Given the description of an element on the screen output the (x, y) to click on. 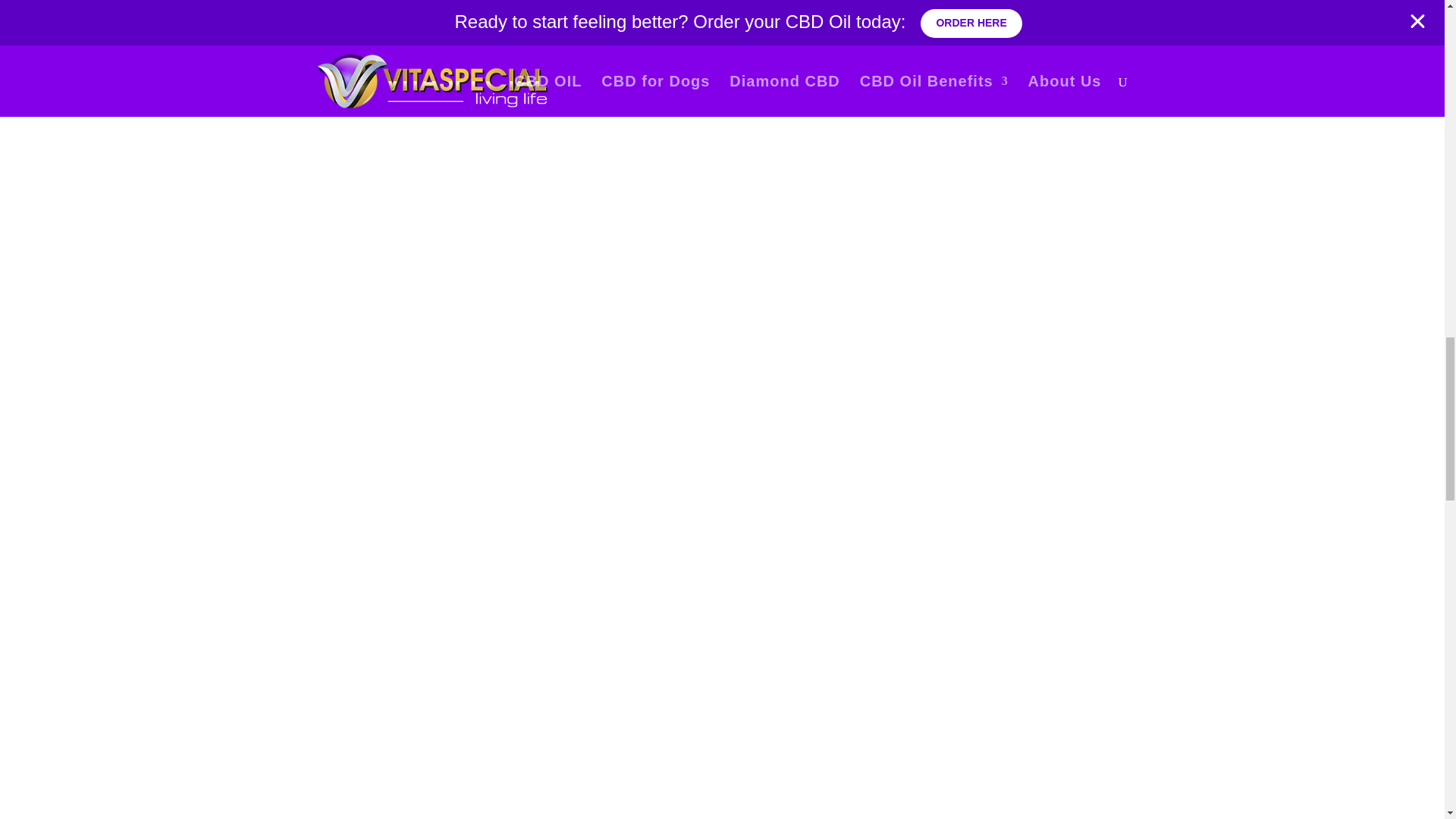
Get Yours (722, 272)
Get Yours (434, 262)
Get Yours (434, 651)
Get Yours (1009, 280)
Get Yours (722, 679)
Get Yours (1009, 643)
